Given the description of an element on the screen output the (x, y) to click on. 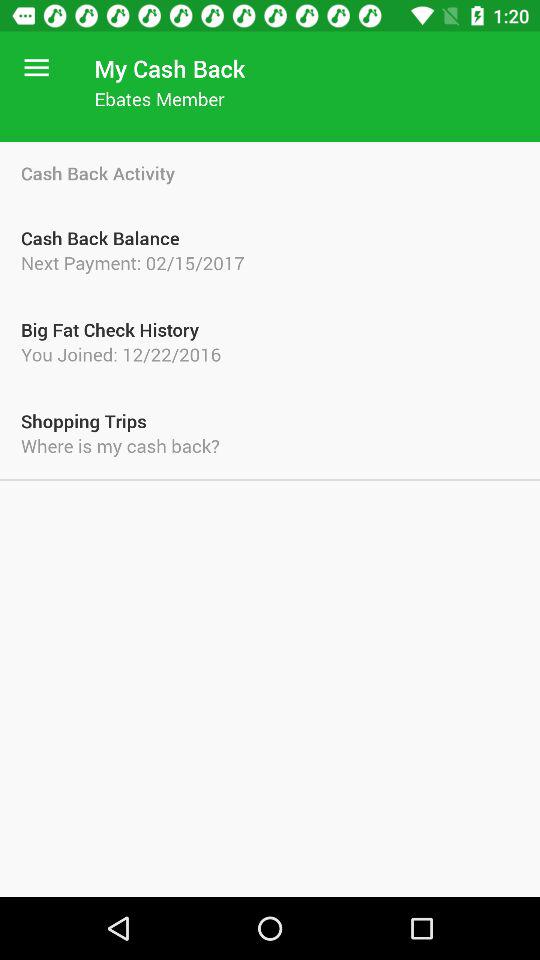
press the you joined 12 icon (270, 353)
